Given the description of an element on the screen output the (x, y) to click on. 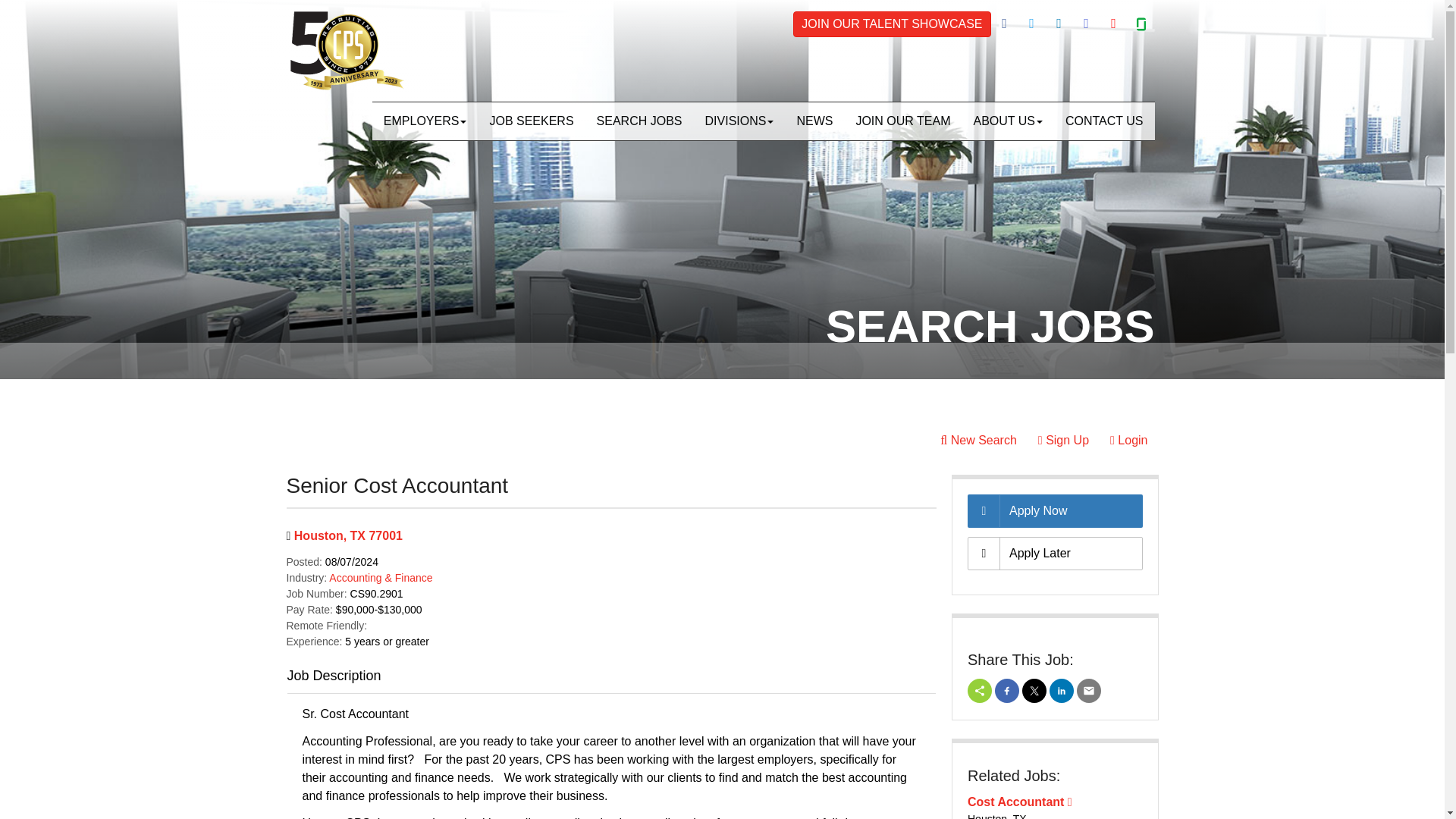
NEWS (814, 121)
Like us on Facebook (1003, 23)
Watch us on YouTube (1112, 23)
JOB SEEKERS (530, 121)
DIVISIONS (739, 121)
CONTACT US (1104, 121)
New Search (978, 440)
Follow us on Twitter (1031, 23)
Login (1128, 440)
Connect with us on LinkedIn (1058, 23)
